Given the description of an element on the screen output the (x, y) to click on. 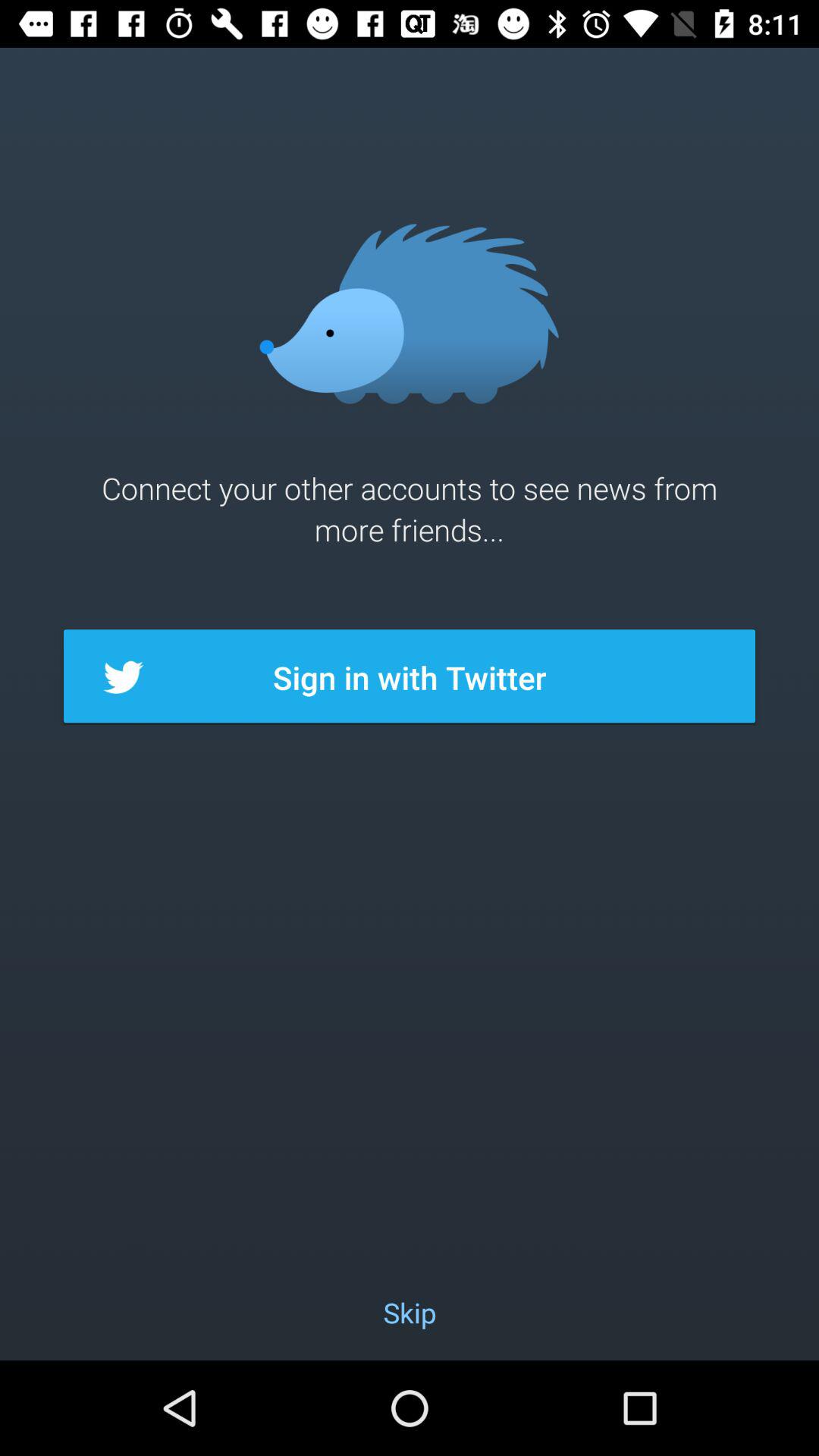
click the sign in with (409, 677)
